Given the description of an element on the screen output the (x, y) to click on. 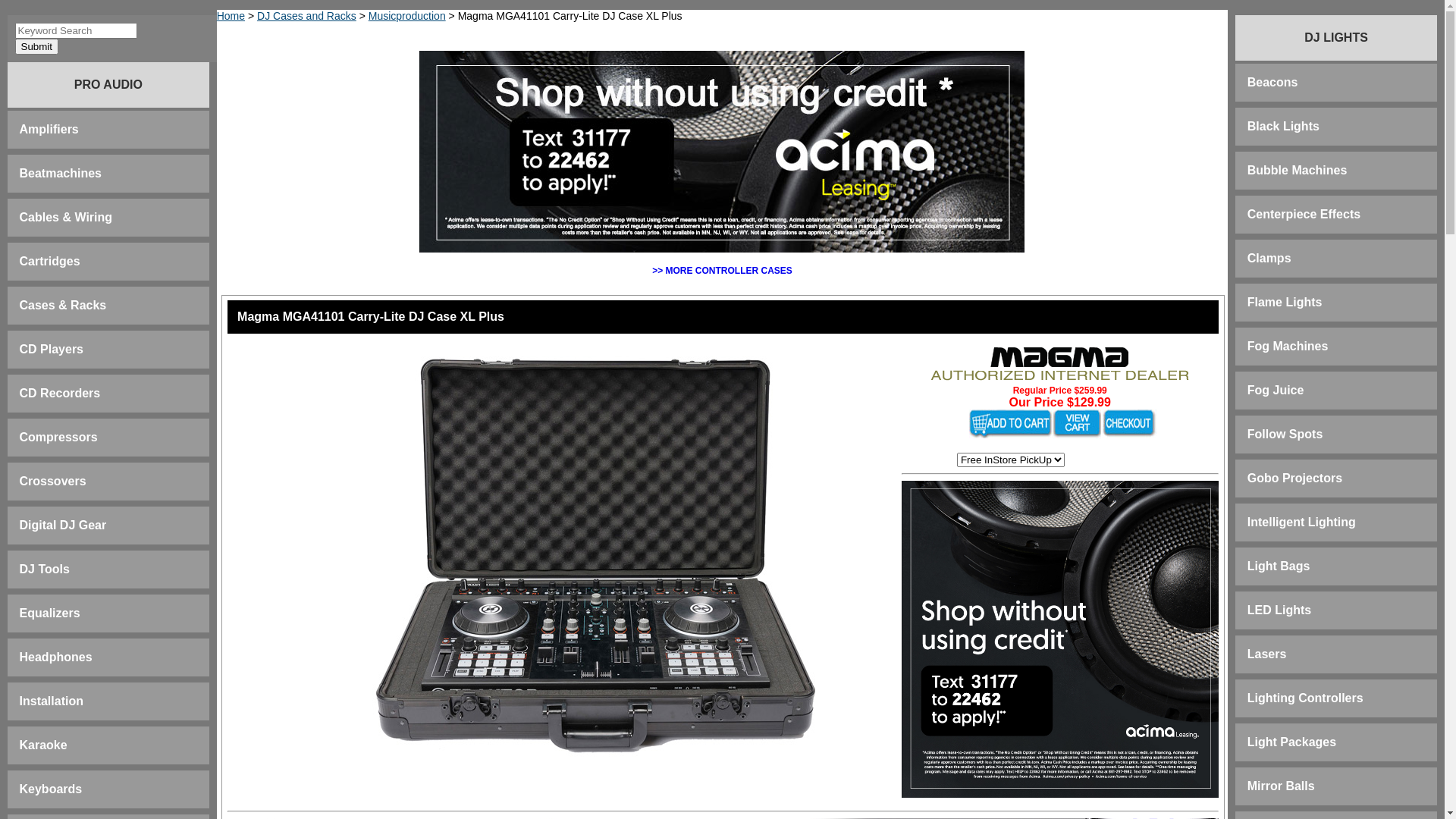
Black Lights Element type: text (1283, 125)
Beatmachines Element type: text (60, 172)
Karaoke Element type: text (43, 744)
Beacons Element type: text (1272, 81)
Crossovers Element type: text (52, 480)
Clamps Element type: text (1269, 257)
Headphones Element type: text (55, 656)
Light Bags Element type: text (1278, 565)
DJ LIGHTS Element type: text (1336, 37)
CD Players Element type: text (51, 348)
LED Lights Element type: text (1279, 609)
Flame Lights Element type: text (1284, 301)
Lasers Element type: text (1266, 653)
Centerpiece Effects Element type: text (1303, 213)
Bubble Machines Element type: text (1297, 169)
Keyboards Element type: text (50, 788)
Fog Machines Element type: text (1287, 345)
Home Element type: text (230, 15)
Musicproduction Element type: text (406, 15)
Intelligent Lighting Element type: text (1301, 521)
Digital DJ Gear Element type: text (62, 524)
Cables & Wiring Element type: text (65, 216)
Compressors Element type: text (58, 436)
PRO AUDIO Element type: text (108, 84)
DJ Tools Element type: text (44, 568)
Installation Element type: text (51, 700)
Follow Spots Element type: text (1285, 433)
Lighting Controllers Element type: text (1305, 697)
Cases & Racks Element type: text (62, 304)
Equalizers Element type: text (49, 612)
No Credit Needed Element type: hover (1059, 638)
Cartridges Element type: text (49, 260)
>> MORE CONTROLLER CASES Element type: text (722, 270)
DJ Cases and Racks Element type: text (306, 15)
Amplifiers Element type: text (48, 128)
Mirror Balls Element type: text (1280, 785)
CD Recorders Element type: text (59, 392)
Fog Juice Element type: text (1275, 389)
Gobo Projectors Element type: text (1294, 477)
Light Packages Element type: text (1291, 741)
